Given the description of an element on the screen output the (x, y) to click on. 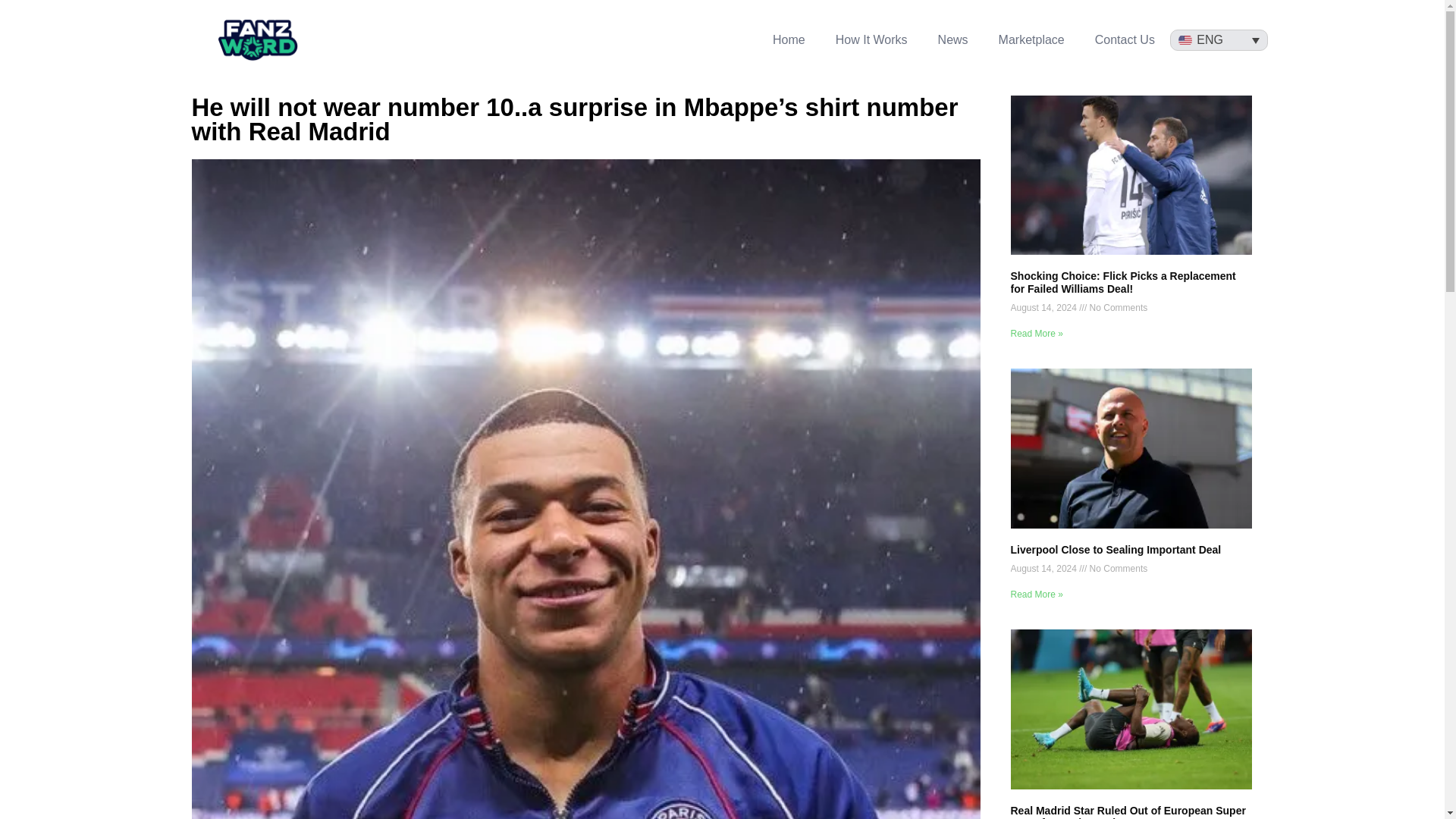
News (953, 39)
Contact Us (1125, 39)
Marketplace (1032, 39)
ENG (1219, 40)
Home (789, 39)
How It Works (872, 39)
